Given the description of an element on the screen output the (x, y) to click on. 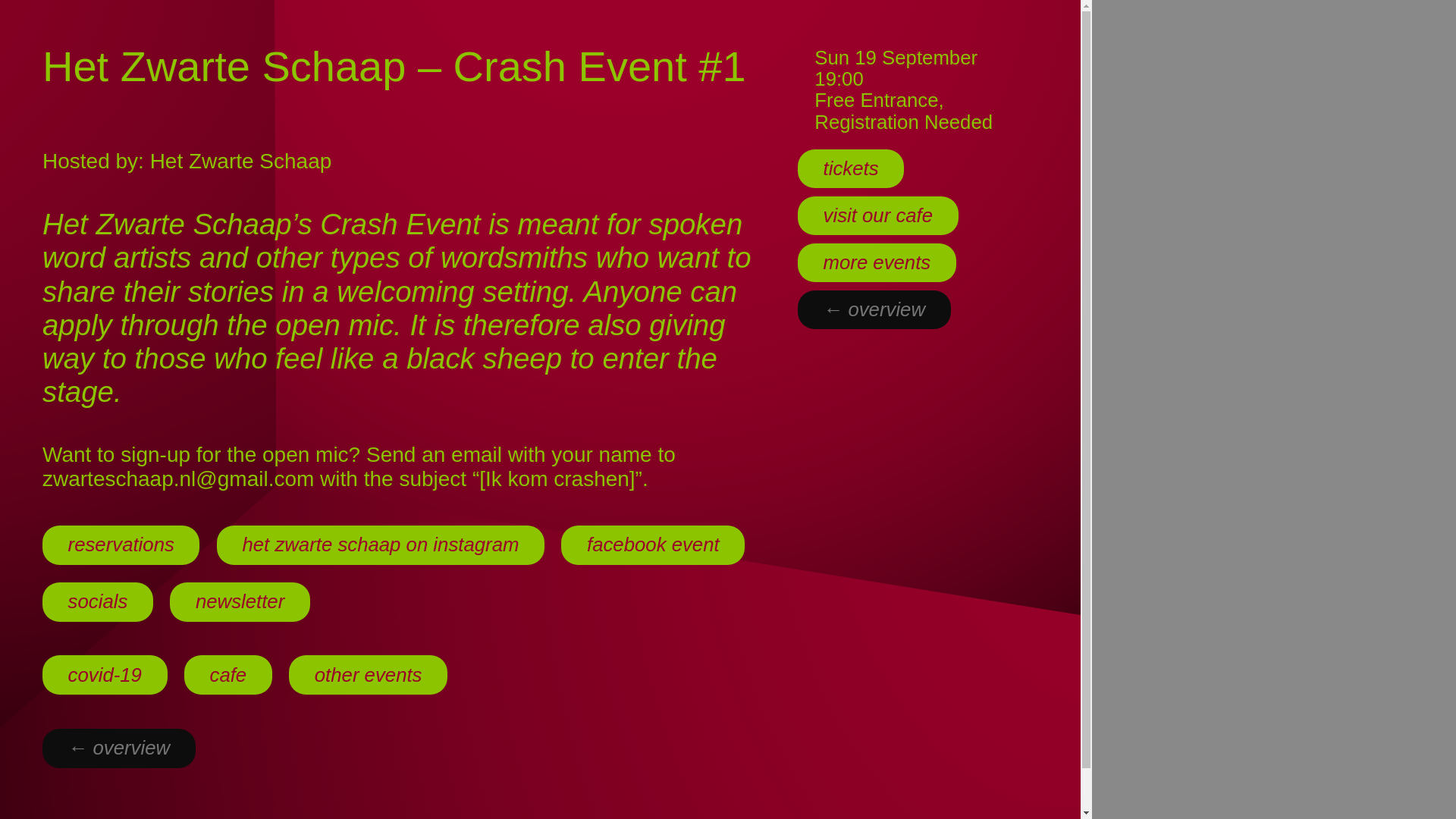
more events (876, 262)
tickets (850, 168)
cafe (228, 674)
other events (367, 674)
visit our cafe (877, 215)
